Given the description of an element on the screen output the (x, y) to click on. 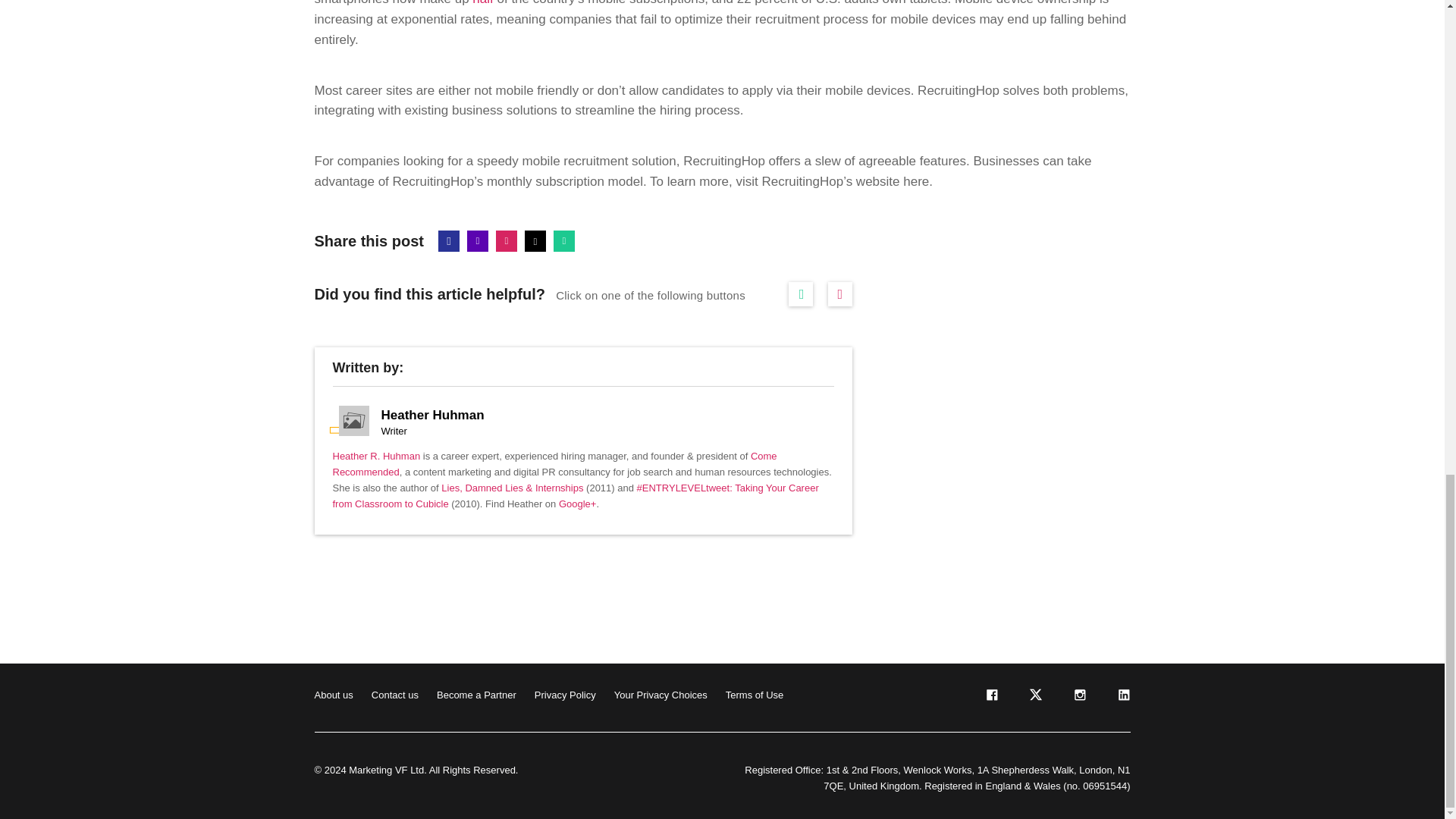
instagram (1078, 697)
Twitter-x (535, 240)
Whatsapp (564, 240)
Linkedin (477, 240)
twitter-x (1034, 697)
Facebook (449, 240)
facebook (990, 697)
linkedin (1122, 697)
Flipboard (506, 240)
